Given the description of an element on the screen output the (x, y) to click on. 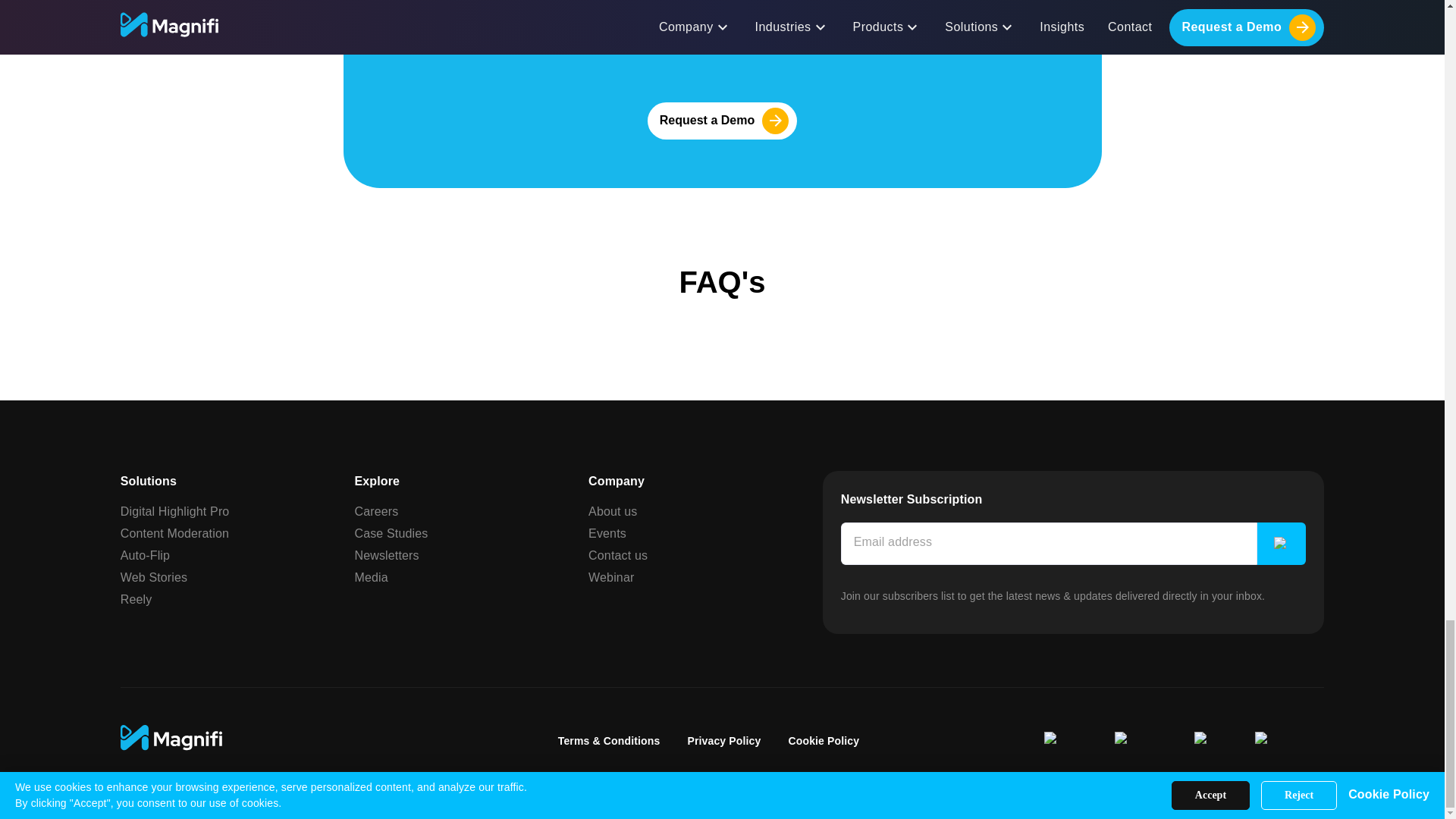
Careers (375, 510)
Content Moderation (174, 533)
Web Stories (153, 576)
Cookie Policy (823, 740)
About us (612, 510)
Request a Demo (721, 120)
Auto-Flip (145, 554)
Digital Highlight Pro (175, 510)
privacy policy (846, 39)
Reely (136, 598)
